Given the description of an element on the screen output the (x, y) to click on. 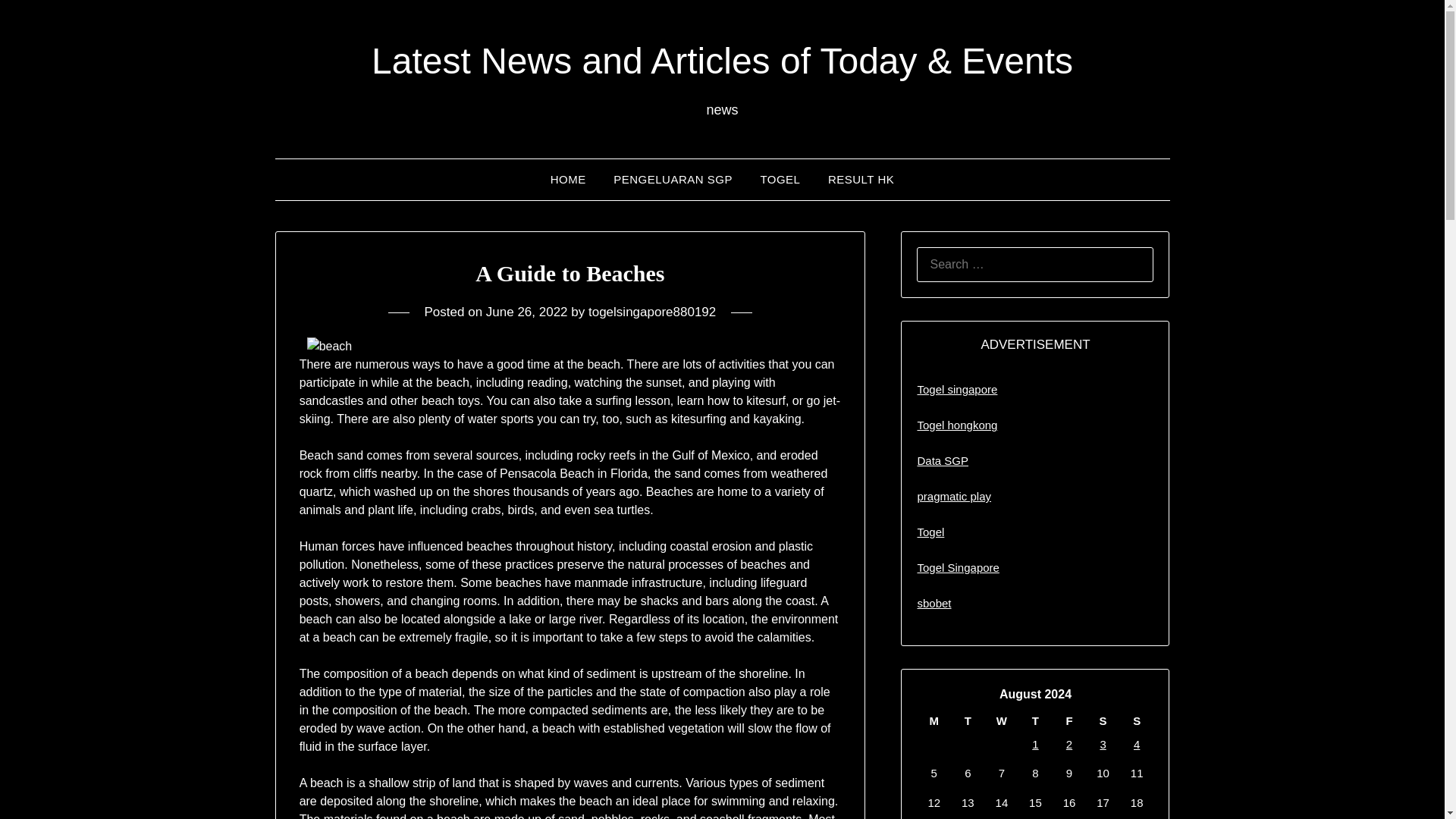
TOGEL (780, 178)
PENGELUARAN SGP (672, 178)
Data SGP (942, 460)
Tuesday (967, 720)
June 26, 2022 (526, 311)
togelsingapore880192 (652, 311)
Togel (930, 531)
Togel Singapore (957, 567)
Monday (933, 720)
Friday (1069, 720)
Togel hongkong (957, 424)
Thursday (1034, 720)
sbobet (933, 603)
Search (38, 22)
Saturday (1102, 720)
